Given the description of an element on the screen output the (x, y) to click on. 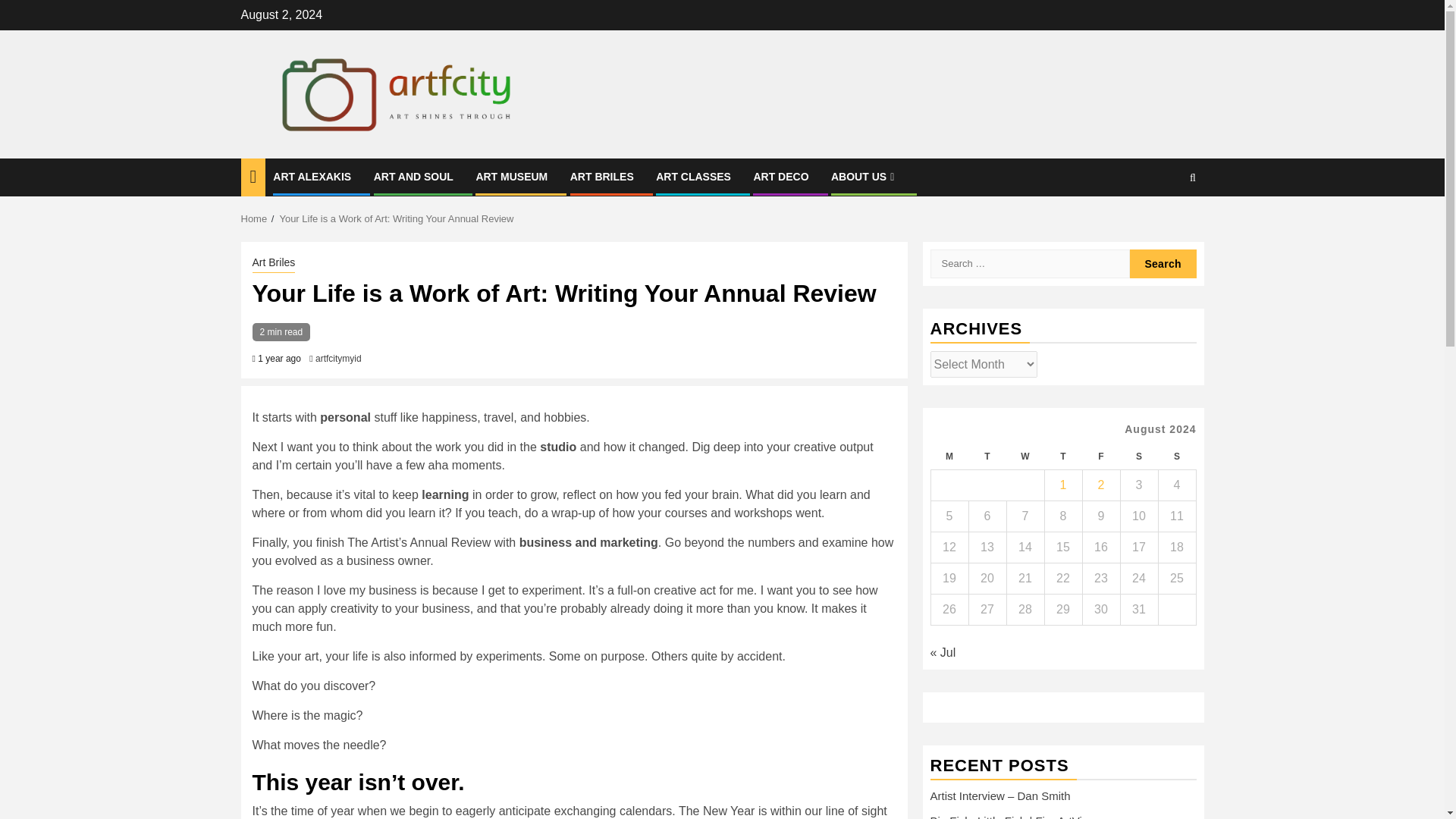
Friday (1100, 456)
Sunday (1176, 456)
Saturday (1138, 456)
Tuesday (987, 456)
ART ALEXAKIS (311, 176)
Search (1163, 224)
ART CLASSES (693, 176)
ABOUT US (864, 176)
Thursday (1062, 456)
Monday (949, 456)
artfcitymyid (338, 357)
ART MUSEUM (511, 176)
Your Life is a Work of Art: Writing Your Annual Review (396, 218)
Art Briles (273, 263)
ART AND SOUL (413, 176)
